Given the description of an element on the screen output the (x, y) to click on. 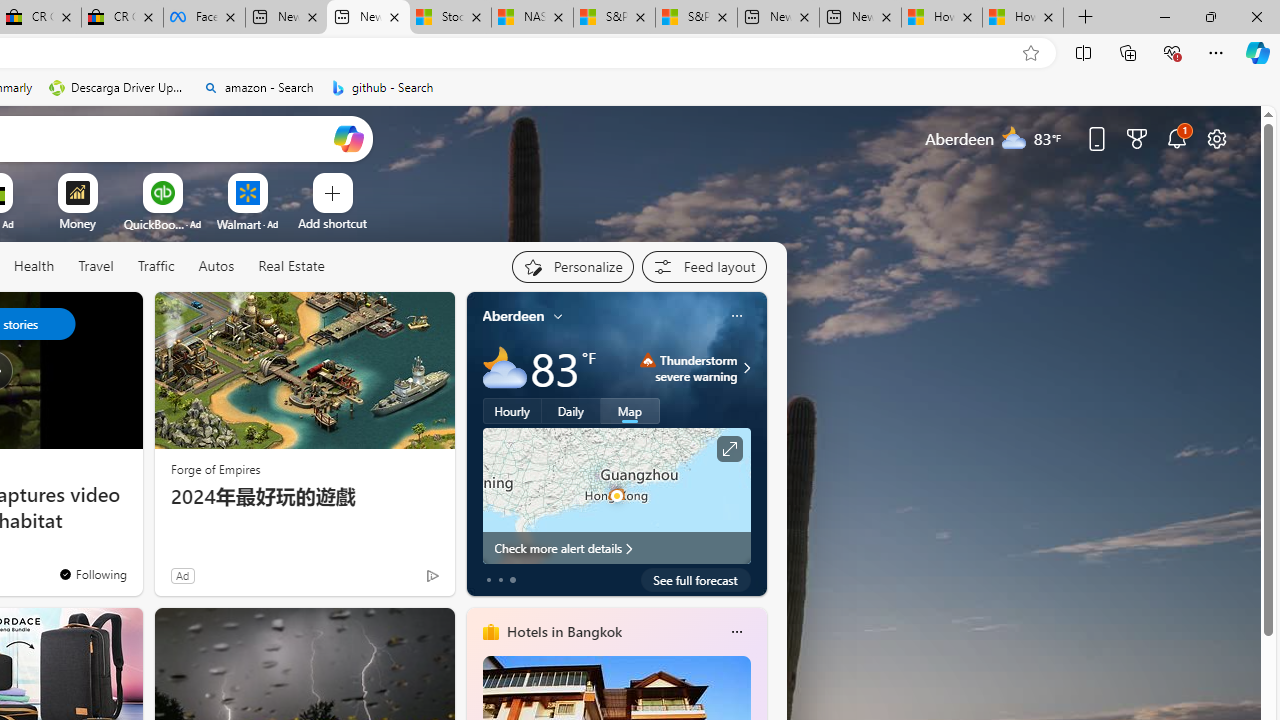
Thunderstorm - Severe Thunderstorm severe warning (689, 367)
Personalize your feed" (571, 266)
Notifications (1176, 138)
Traffic (155, 267)
tab-2 (511, 579)
Mostly cloudy (504, 368)
Restore (1210, 16)
Thunderstorm - Severe (648, 359)
New Tab (1085, 17)
Health (33, 267)
Add a site (332, 223)
